Given the description of an element on the screen output the (x, y) to click on. 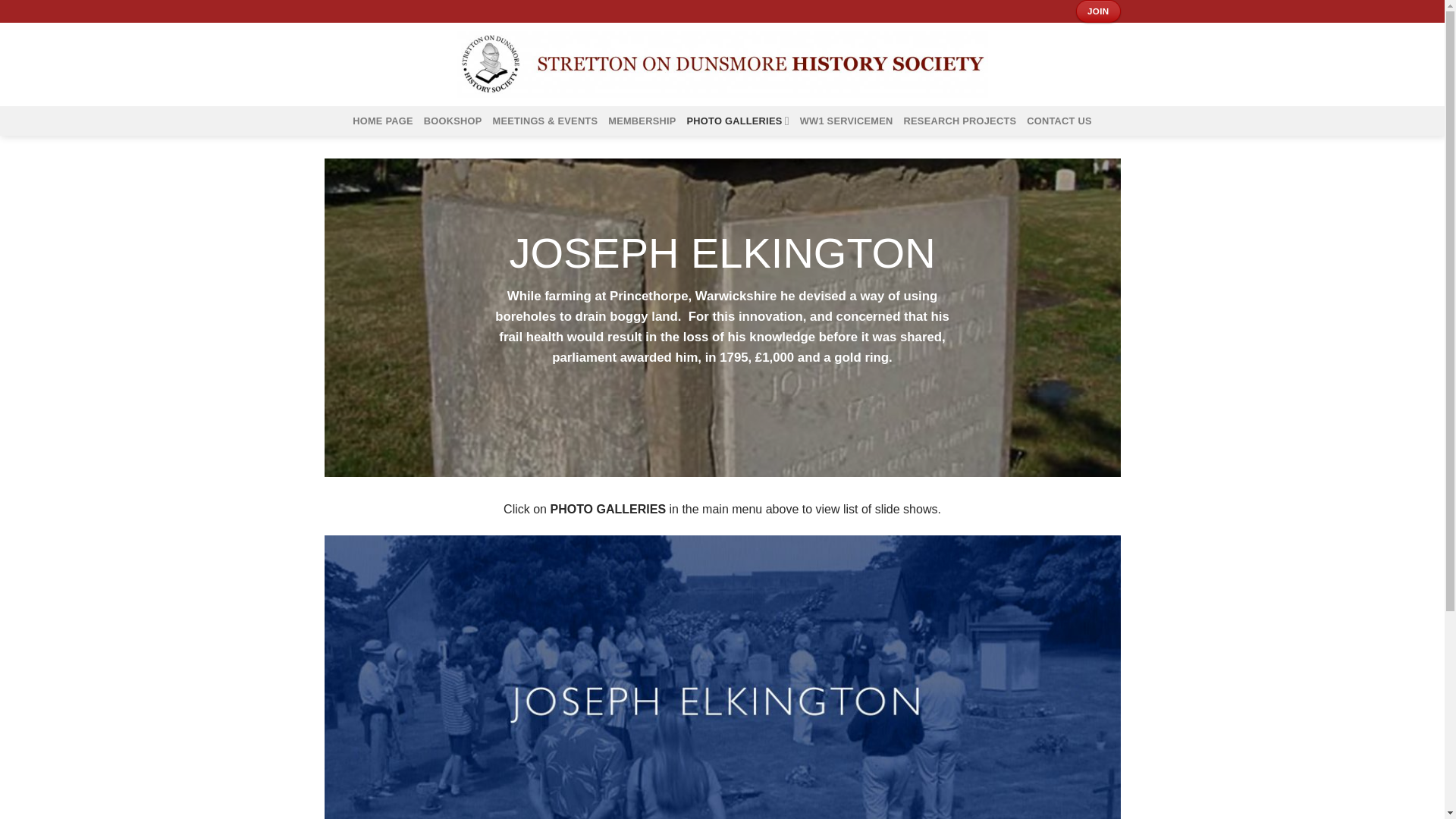
WW1 SERVICEMEN (846, 121)
RESEARCH PROJECTS (960, 121)
Stretton on Dunsmore History Society (722, 64)
JOIN (1097, 11)
PHOTO GALLERIES (738, 120)
MEMBERSHIP (641, 121)
BOOKSHOP (452, 121)
HOME PAGE (382, 121)
CONTACT US (1059, 121)
